Given the description of an element on the screen output the (x, y) to click on. 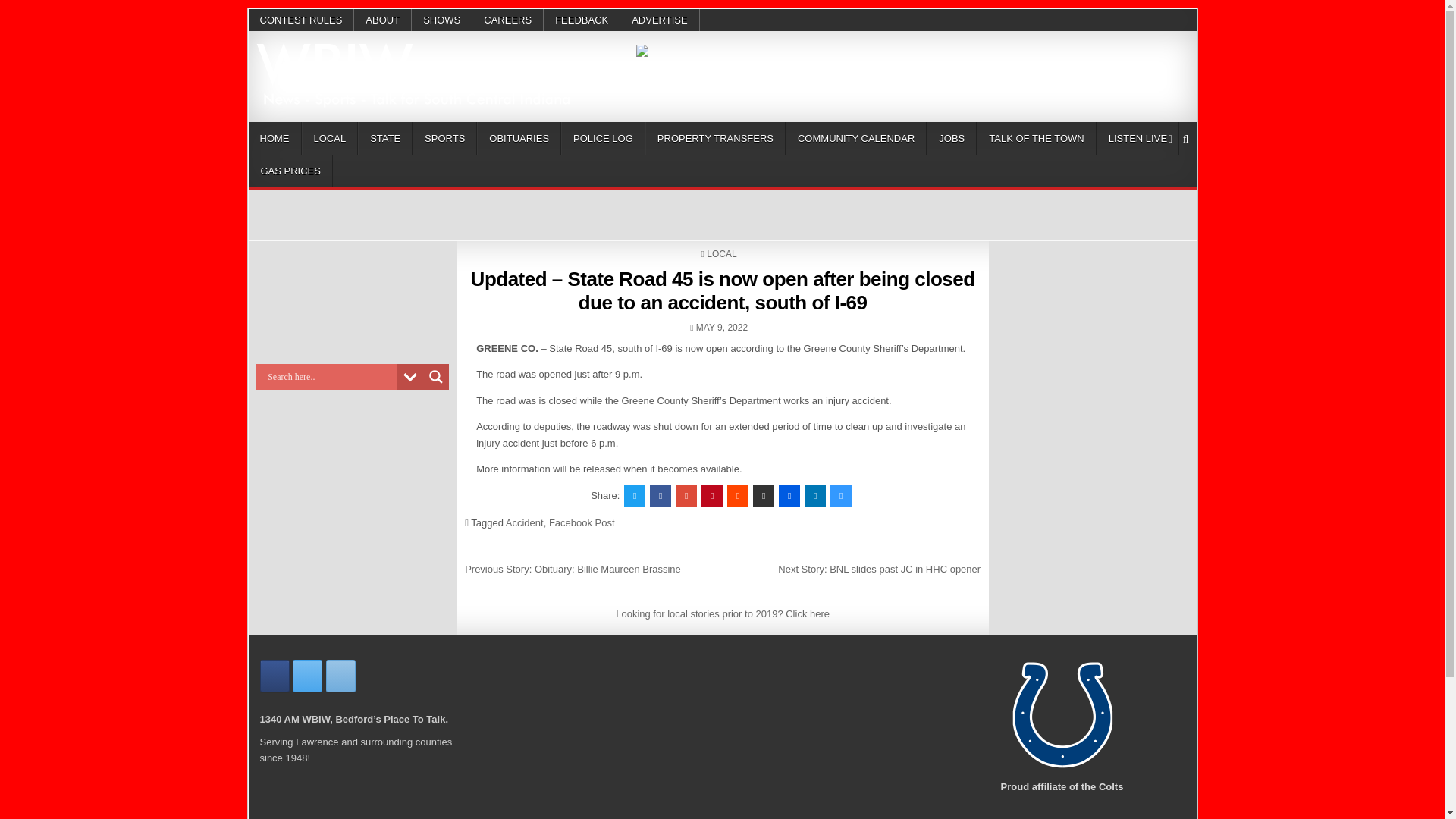
SPORTS (444, 138)
LOCAL (329, 138)
STATE (385, 138)
SHOWS (441, 20)
CAREERS (507, 20)
FEEDBACK (581, 20)
ADVERTISE (659, 20)
ABOUT (382, 20)
CONTEST RULES (301, 20)
HOME (274, 138)
